Given the description of an element on the screen output the (x, y) to click on. 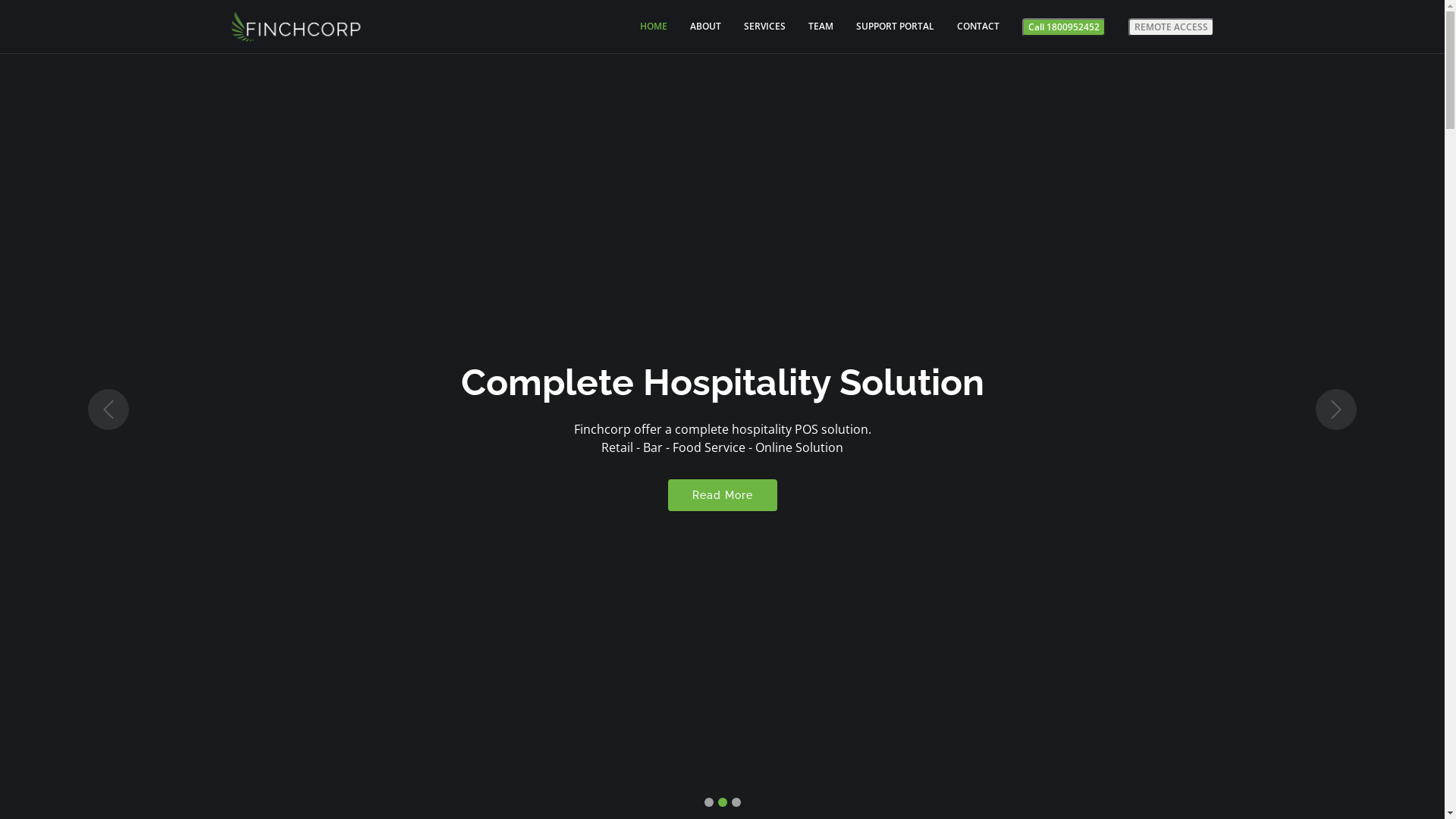
Call 1800952452 Element type: text (1063, 27)
SERVICES Element type: text (752, 26)
SUPPORT PORTAL Element type: text (882, 26)
REMOTE ACCESS Element type: text (1171, 27)
Read More Element type: text (721, 495)
CONTACT Element type: text (966, 26)
TEAM Element type: text (809, 26)
ABOUT Element type: text (694, 26)
HOME Element type: text (642, 26)
Read More Element type: text (721, 486)
